Given the description of an element on the screen output the (x, y) to click on. 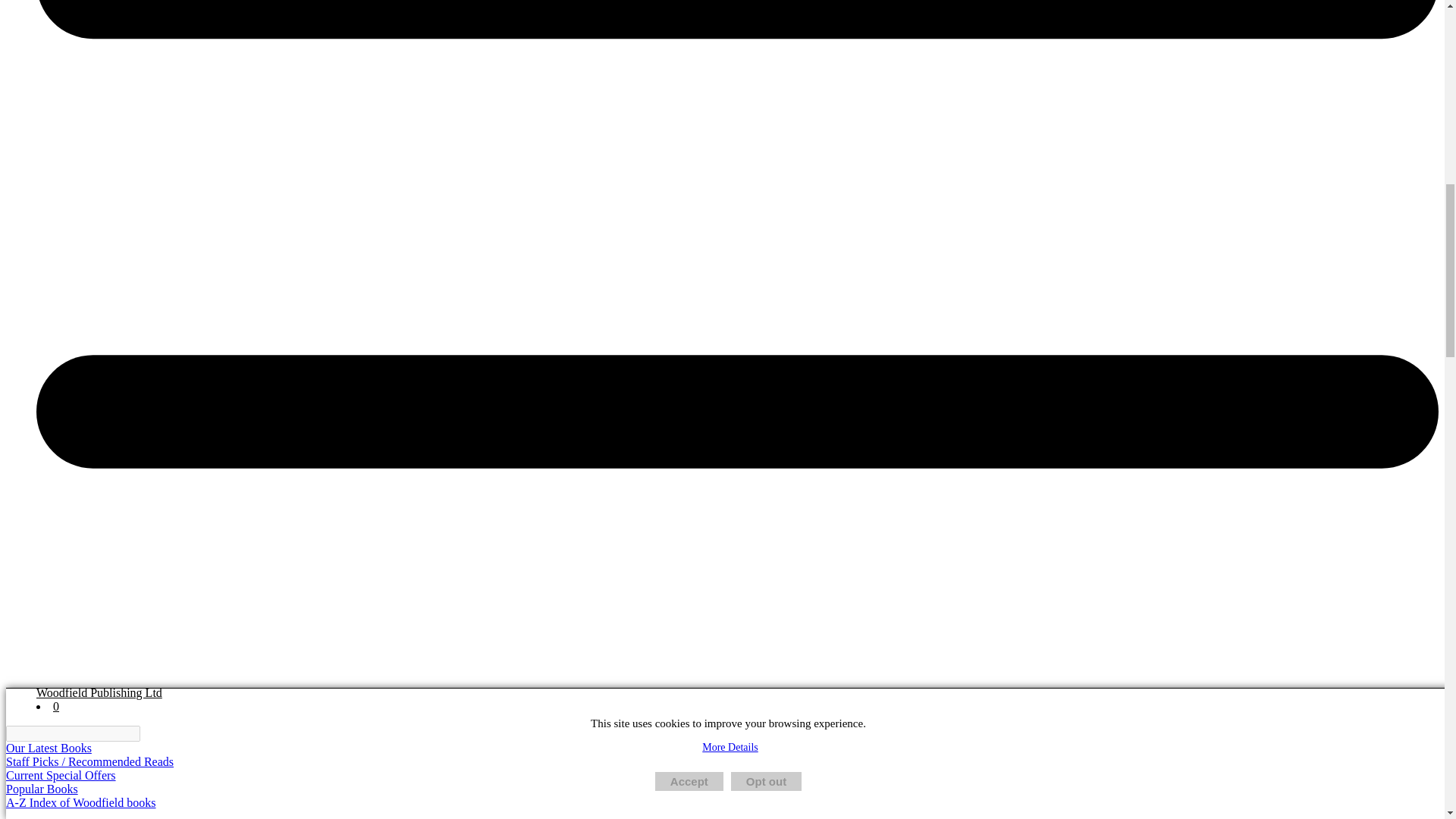
Woodfield Publishing Ltd (98, 692)
Find (148, 733)
